Given the description of an element on the screen output the (x, y) to click on. 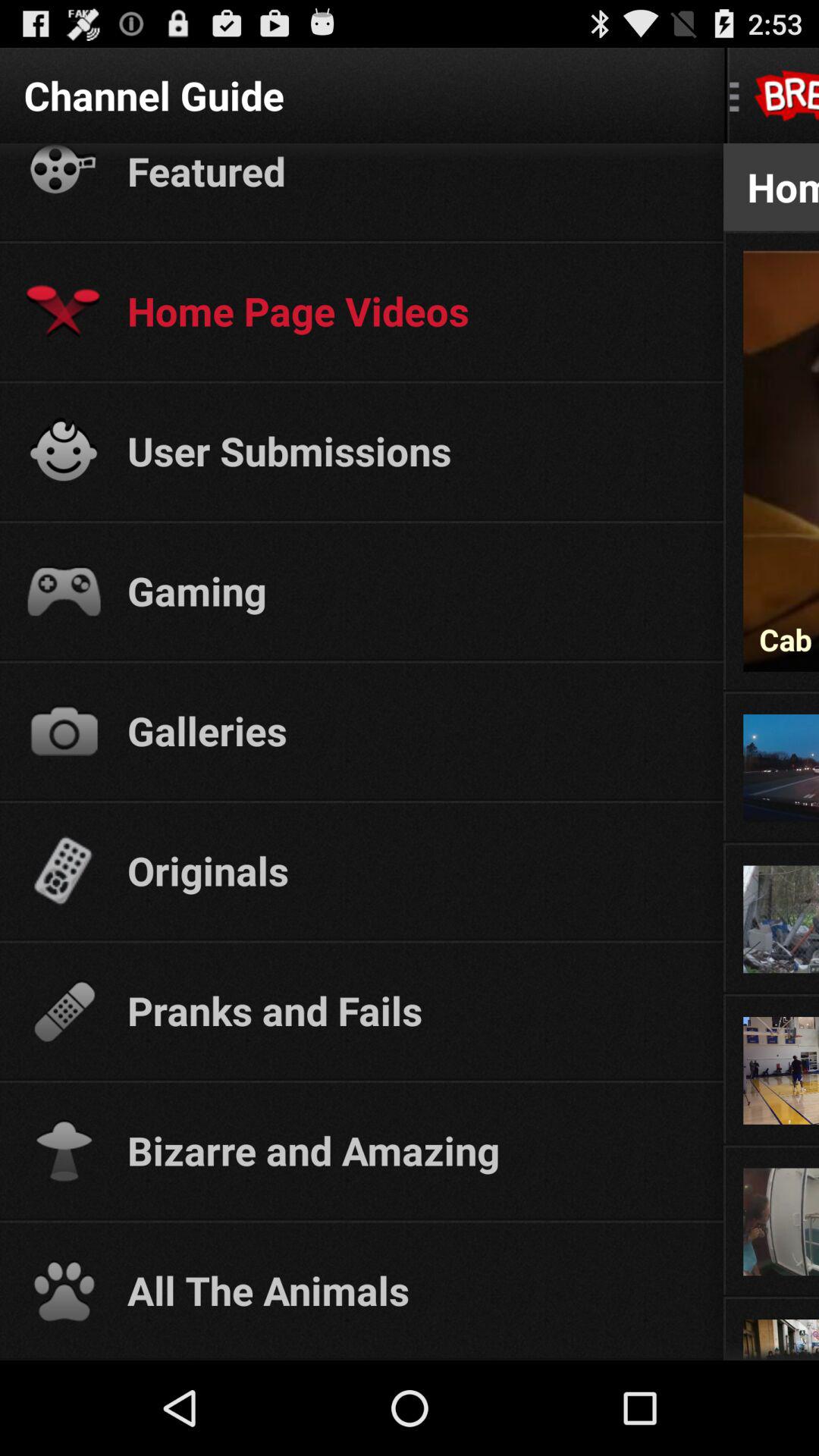
jump until featured app (411, 170)
